Given the description of an element on the screen output the (x, y) to click on. 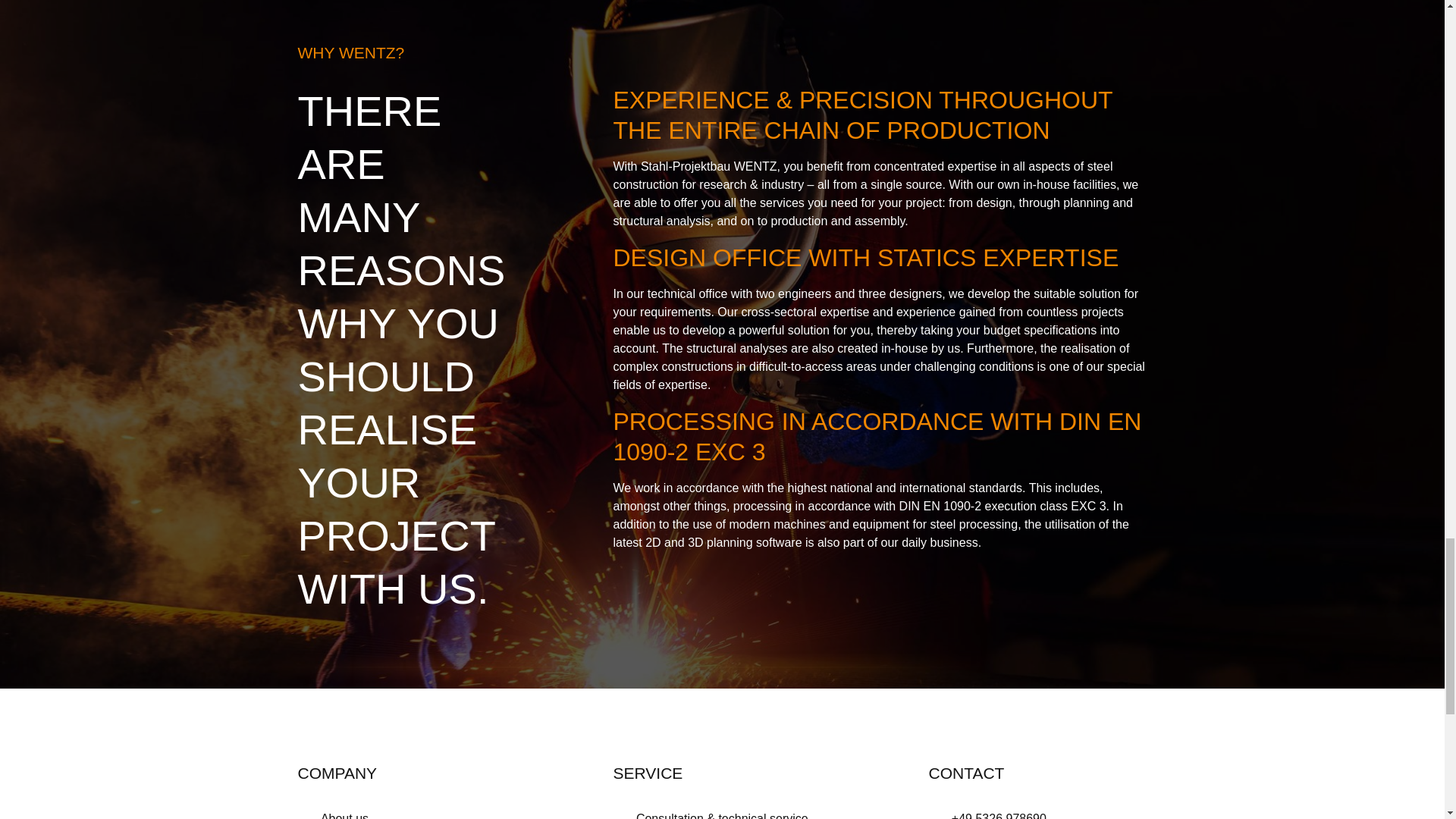
About us (332, 814)
